Given the description of an element on the screen output the (x, y) to click on. 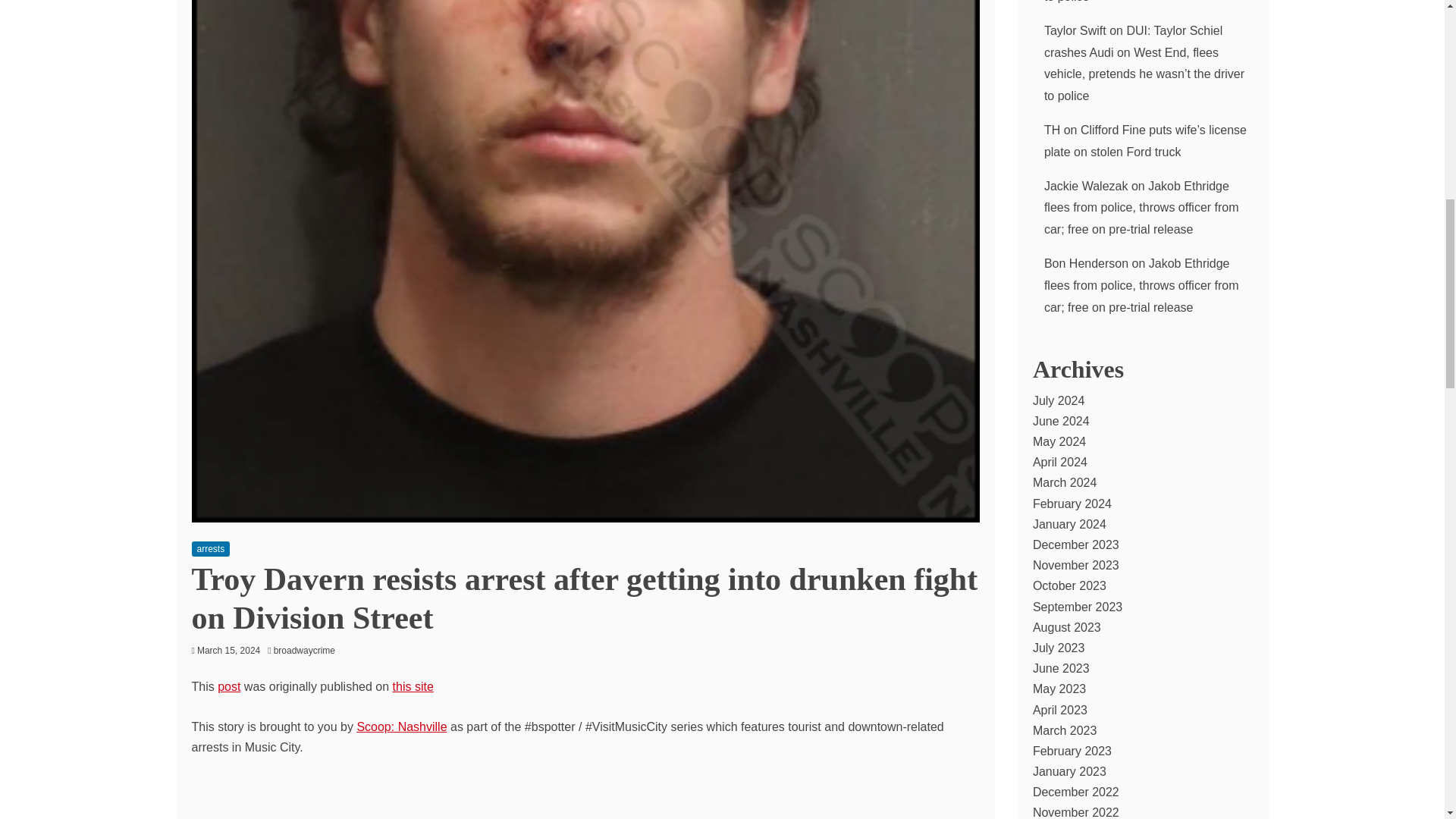
Scoop: Nashville (401, 726)
March 15, 2024 (228, 650)
broadwaycrime (307, 650)
this site (413, 686)
arrests (210, 548)
post (228, 686)
